Given the description of an element on the screen output the (x, y) to click on. 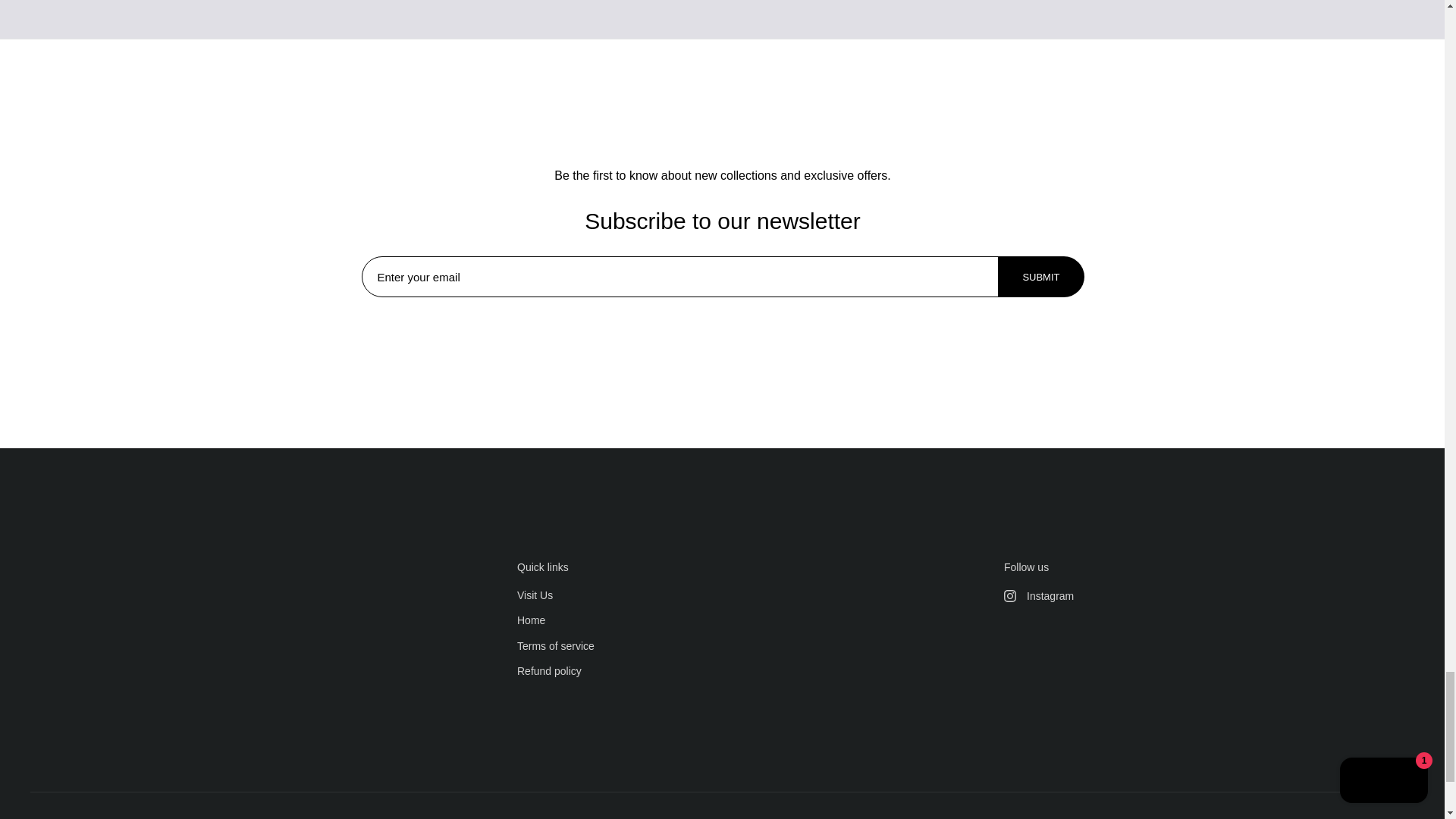
Instagram (1209, 595)
SUBMIT (1040, 276)
SUBMIT (1040, 276)
Visit Us (534, 595)
Refund policy (548, 672)
Terms of service (555, 646)
Home (530, 621)
